Given the description of an element on the screen output the (x, y) to click on. 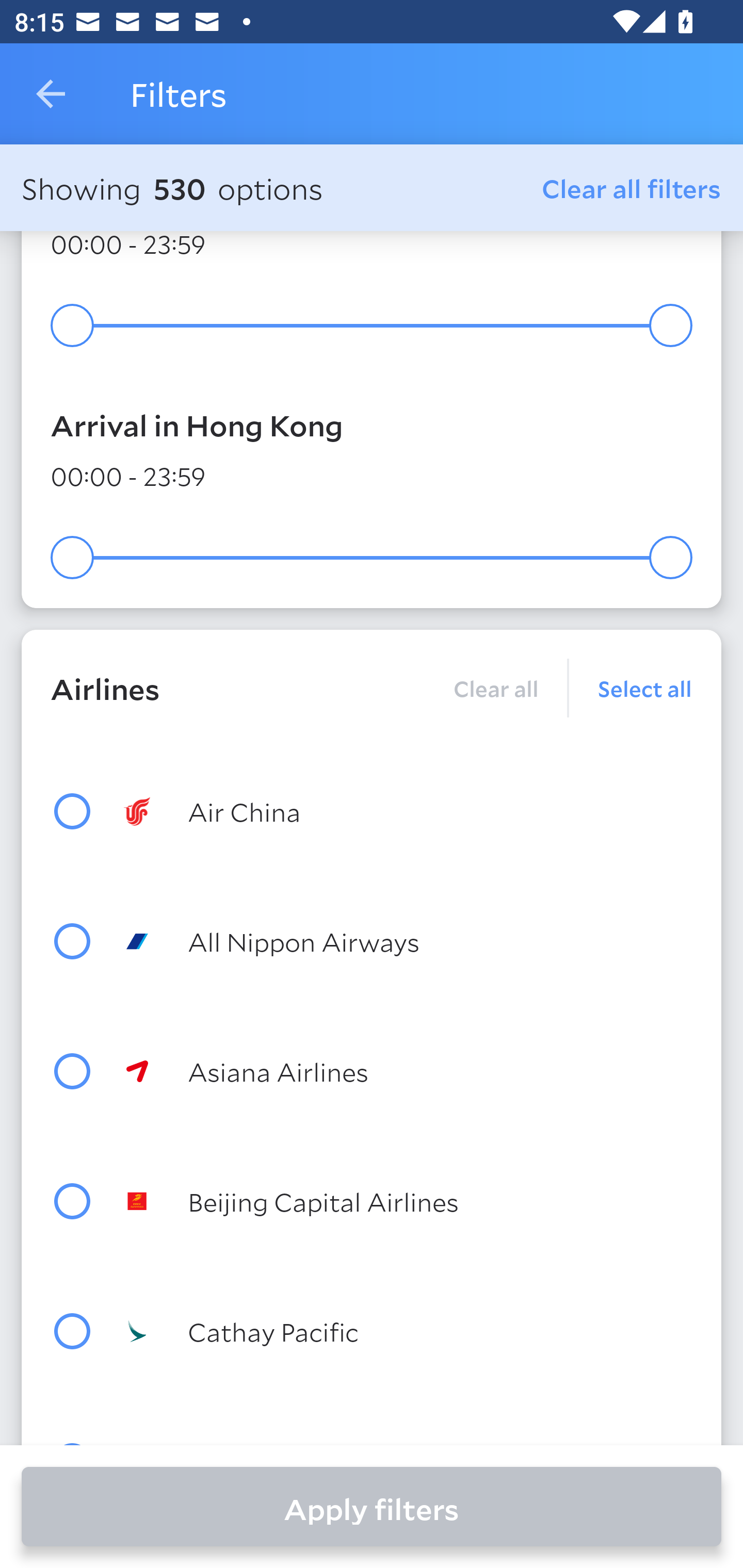
Navigate up (50, 93)
Clear all filters (631, 187)
Clear all (495, 688)
Select all (630, 688)
Air China (407, 810)
All Nippon Airways (407, 940)
Asiana Airlines (407, 1070)
Beijing Capital Airlines (407, 1200)
Cathay Pacific (407, 1330)
Apply filters (371, 1506)
